Given the description of an element on the screen output the (x, y) to click on. 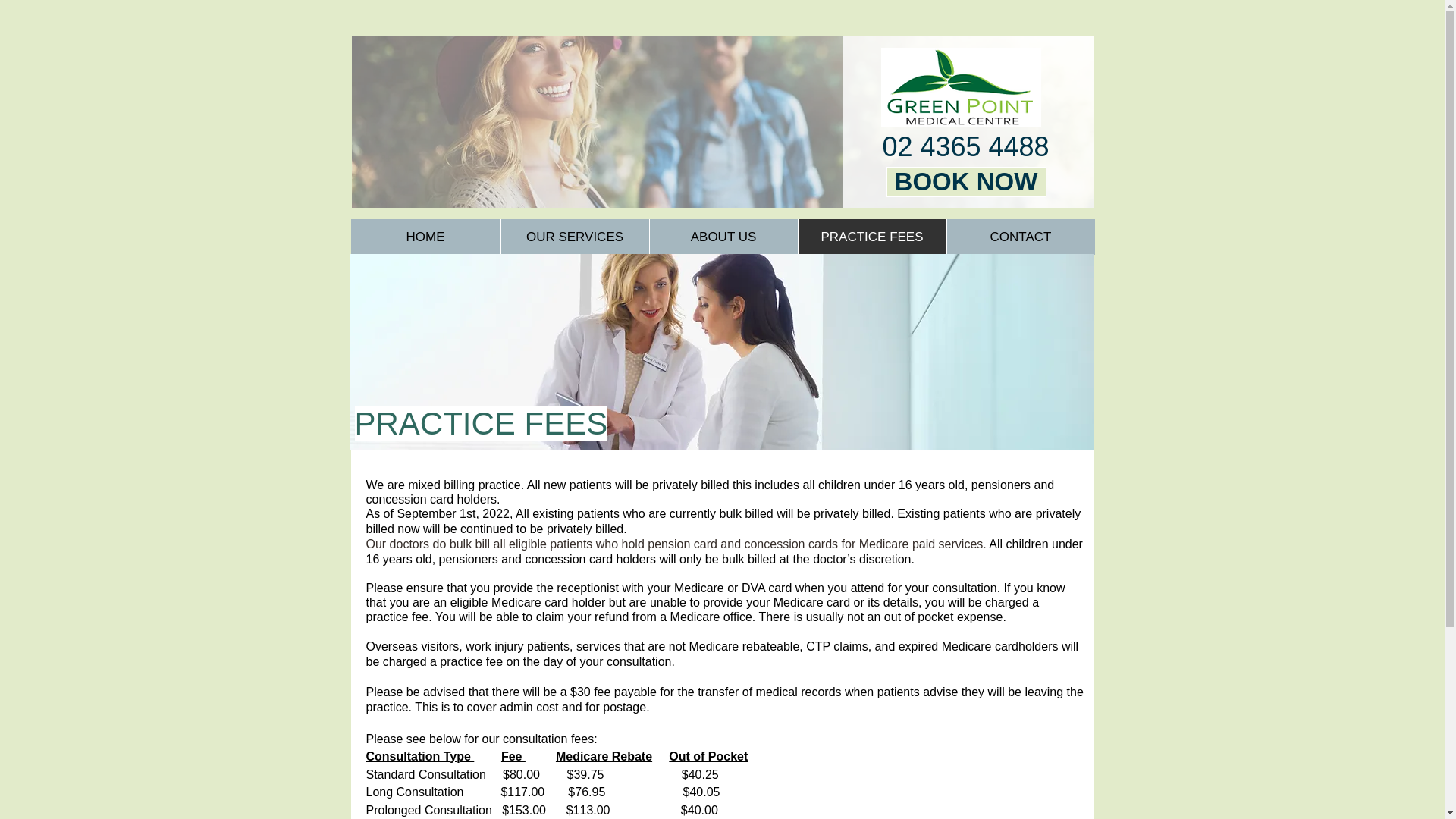
BOOK NOW Element type: text (965, 181)
CONTACT Element type: text (1020, 236)
ABOUT US Element type: text (723, 236)
PRACTICE FEES Element type: text (871, 236)
OUR SERVICES Element type: text (574, 236)
HOME Element type: text (424, 236)
